Given the description of an element on the screen output the (x, y) to click on. 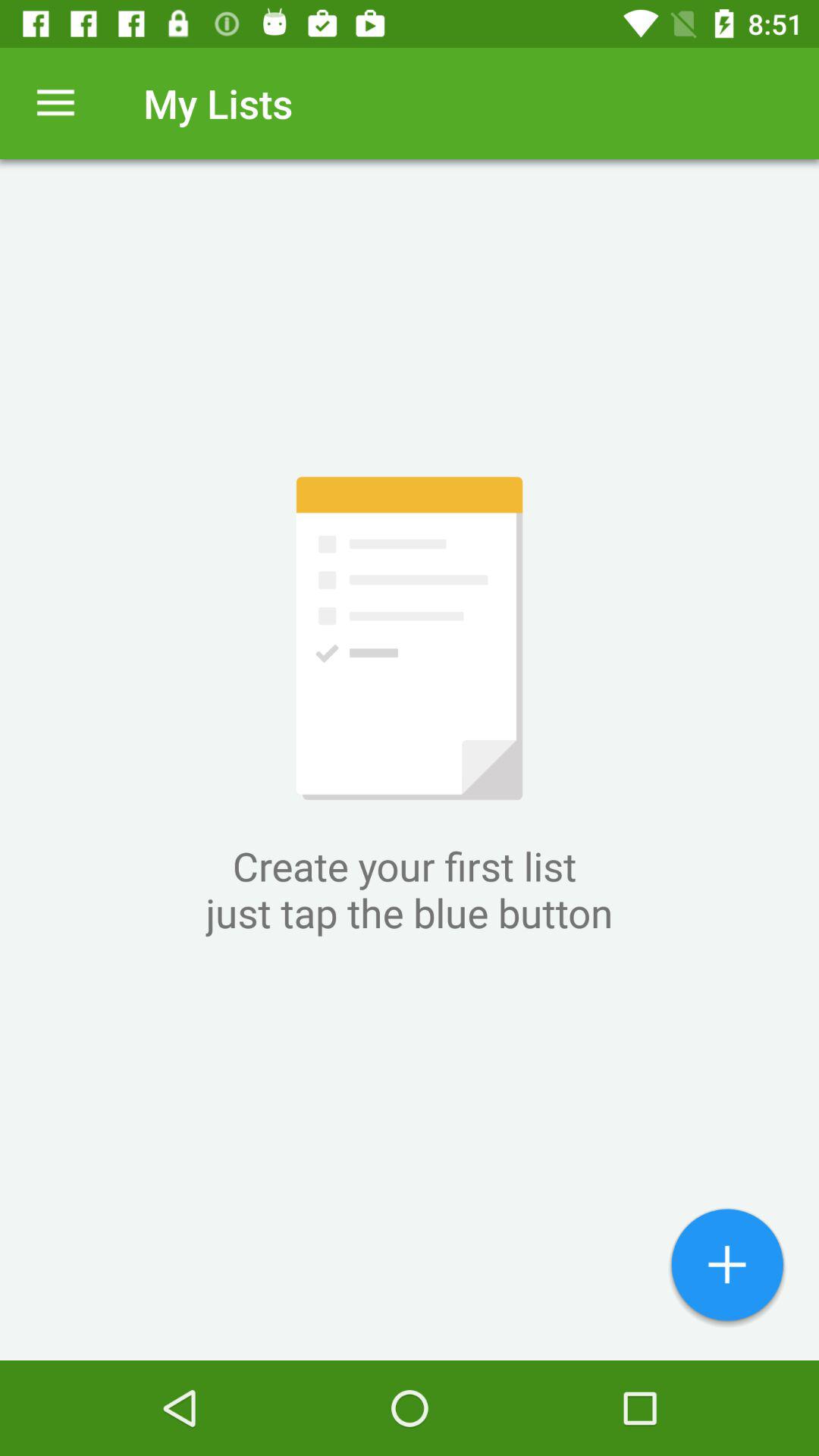
turn on the item to the left of the my lists (55, 103)
